Given the description of an element on the screen output the (x, y) to click on. 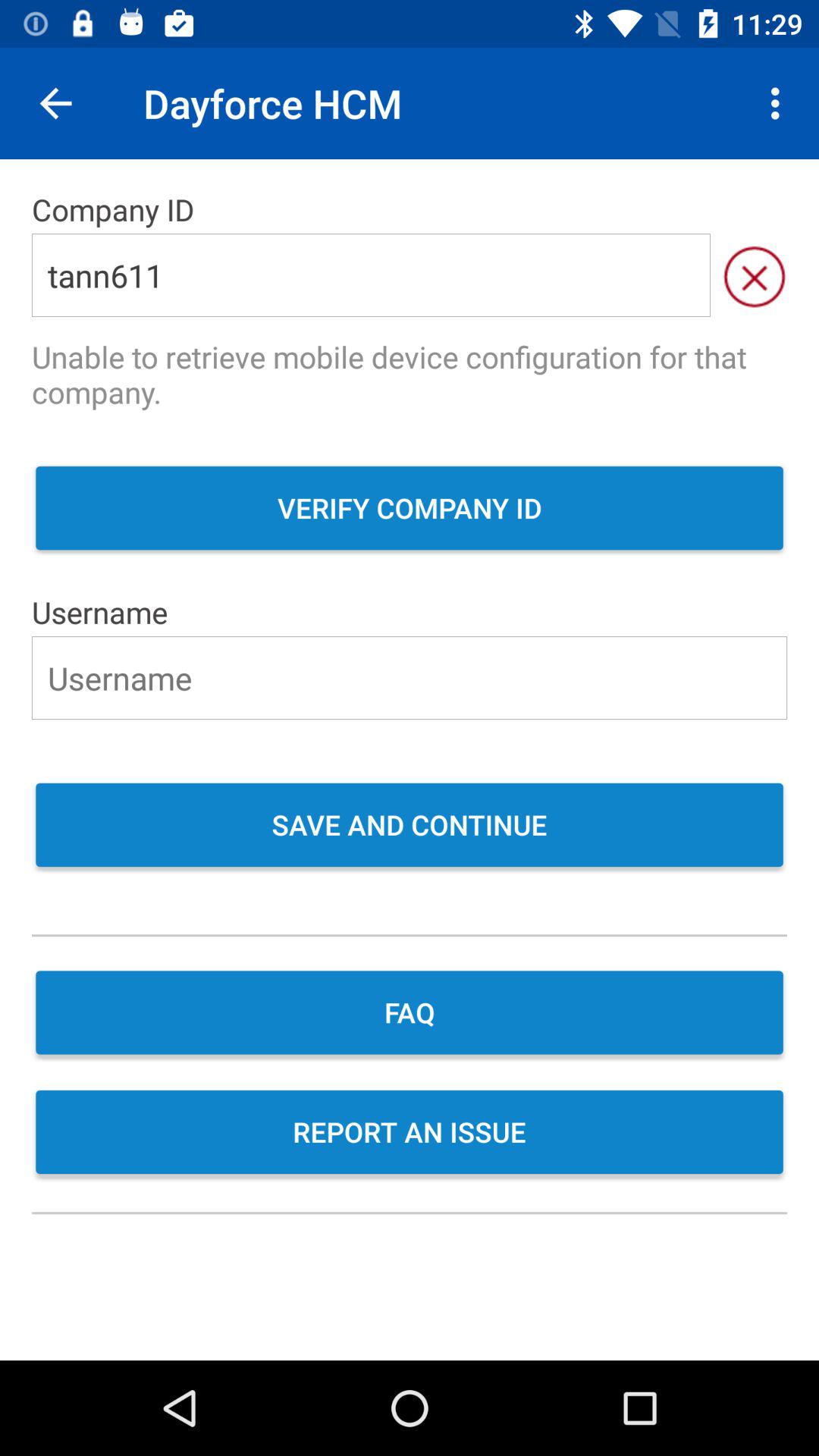
flip until report an issue item (409, 1133)
